Given the description of an element on the screen output the (x, y) to click on. 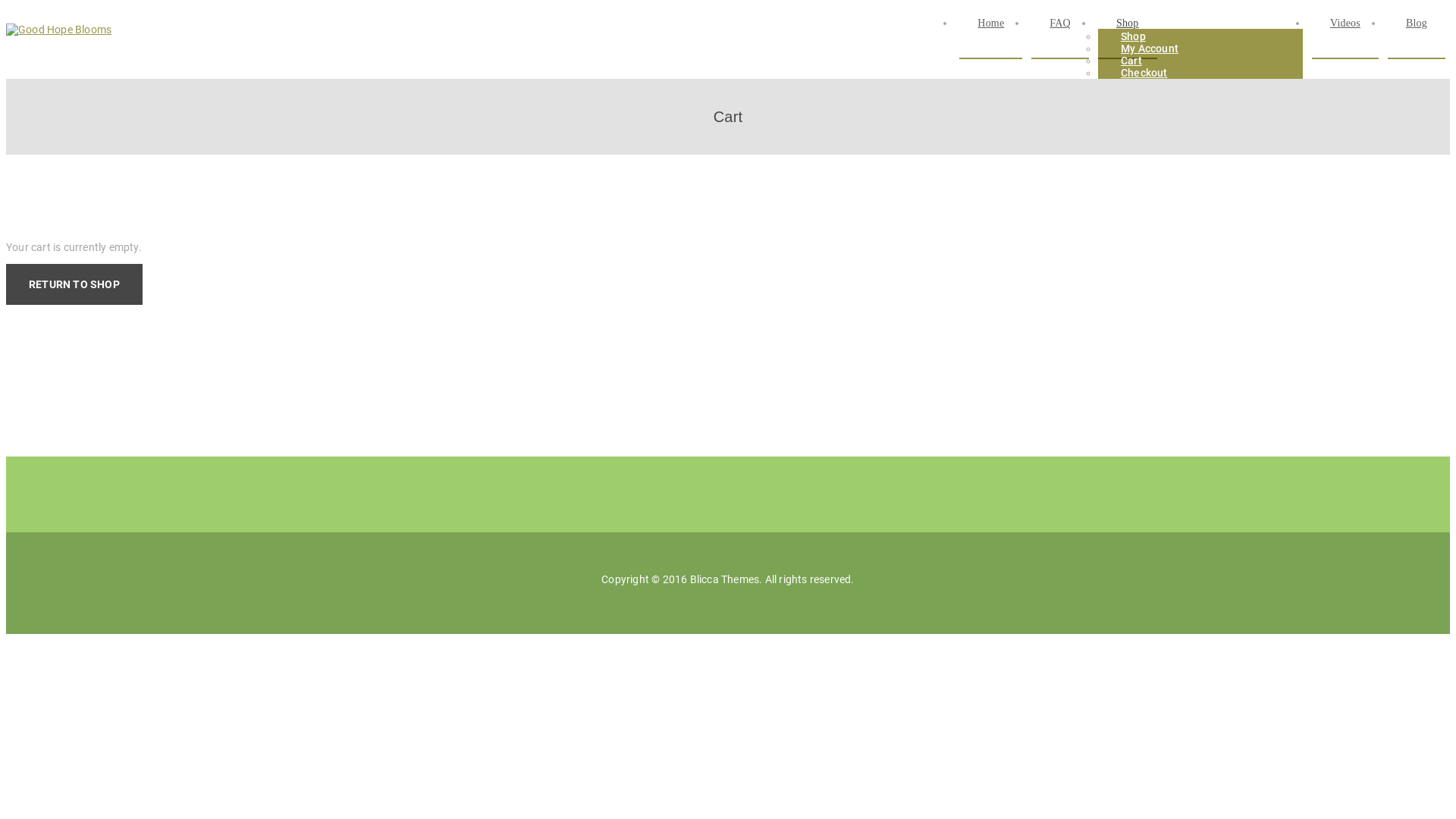
My Account Element type: text (1149, 48)
Checkout Element type: text (1144, 72)
Shop Element type: text (1133, 36)
Cart Element type: text (1131, 60)
RETURN TO SHOP Element type: text (74, 283)
